Given the description of an element on the screen output the (x, y) to click on. 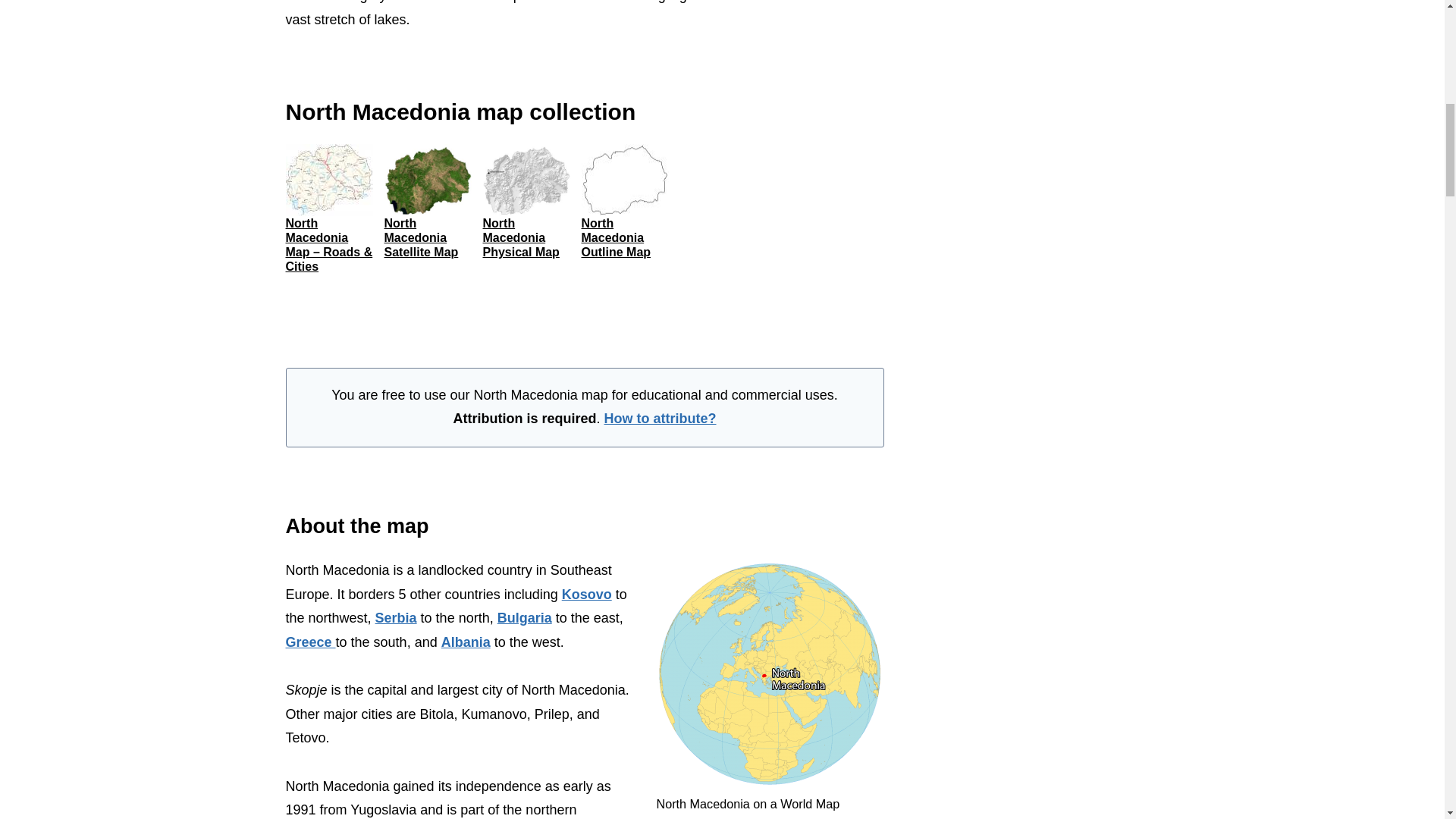
Bulgaria (524, 617)
Greece (309, 642)
North Macedonia Physical Map (520, 237)
Serbia (395, 617)
How to attribute? (660, 418)
North Macedonia Outline Map (615, 237)
North Macedonia Satellite Map (421, 237)
Albania (465, 642)
Kosovo (586, 594)
